Given the description of an element on the screen output the (x, y) to click on. 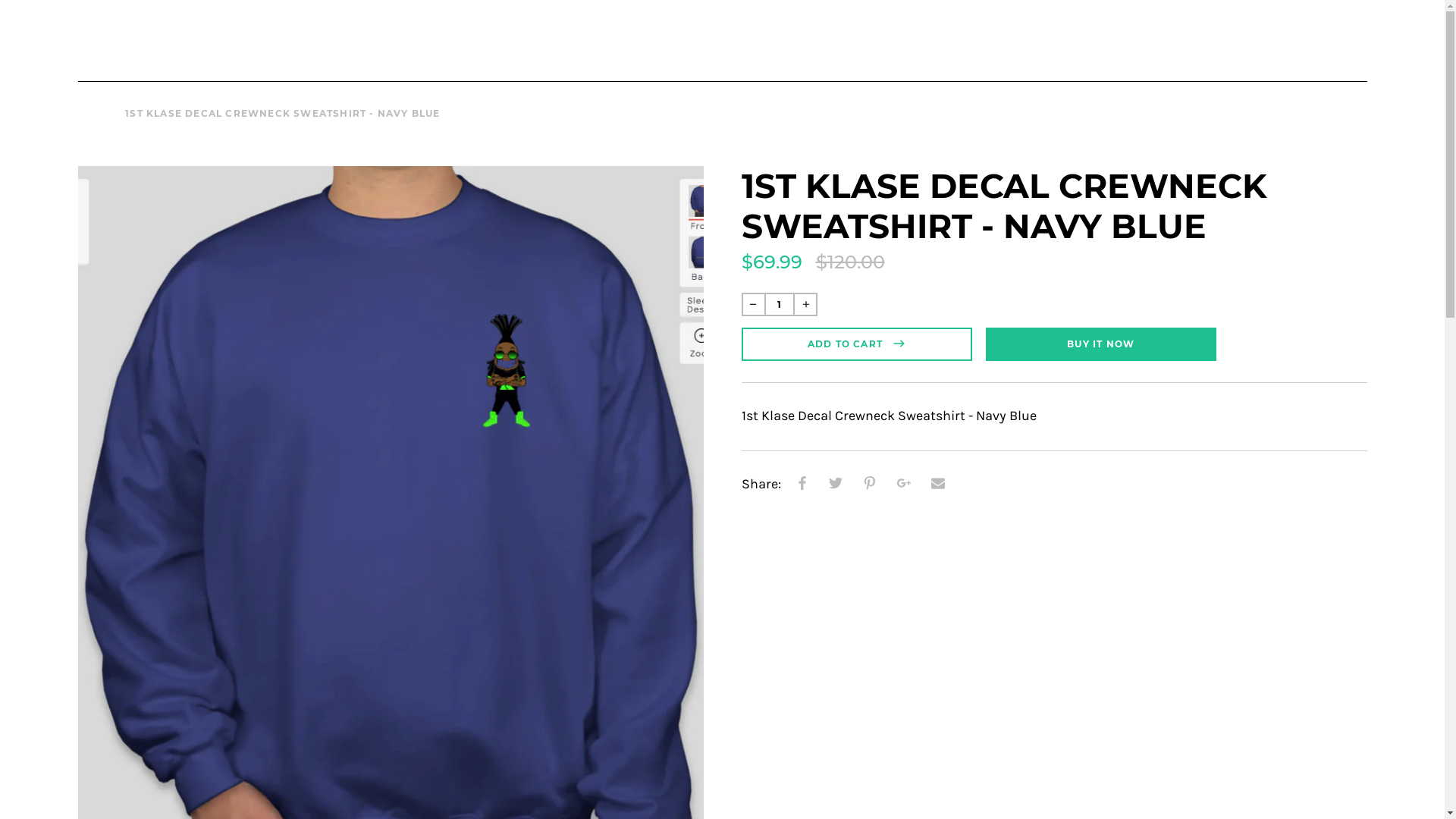
1stklasemusic on Instagram Element type: hover (1187, 36)
ADD TO CART Element type: text (856, 343)
MENU Element type: text (102, 38)
HOME Element type: text (94, 113)
BUY IT NOW Element type: text (1100, 343)
1stklasemusic on YouTube Element type: hover (1284, 36)
1stklasemusic on Facebook Element type: hover (1163, 36)
1stklasemusic on Spotify Element type: hover (1260, 36)
1stklasemusic on Soundcloud Element type: hover (1236, 36)
1stklasemusic on Twitter Element type: hover (1211, 36)
0 Element type: text (1351, 36)
1STKLASEMUSIC Element type: text (721, 39)
